Given the description of an element on the screen output the (x, y) to click on. 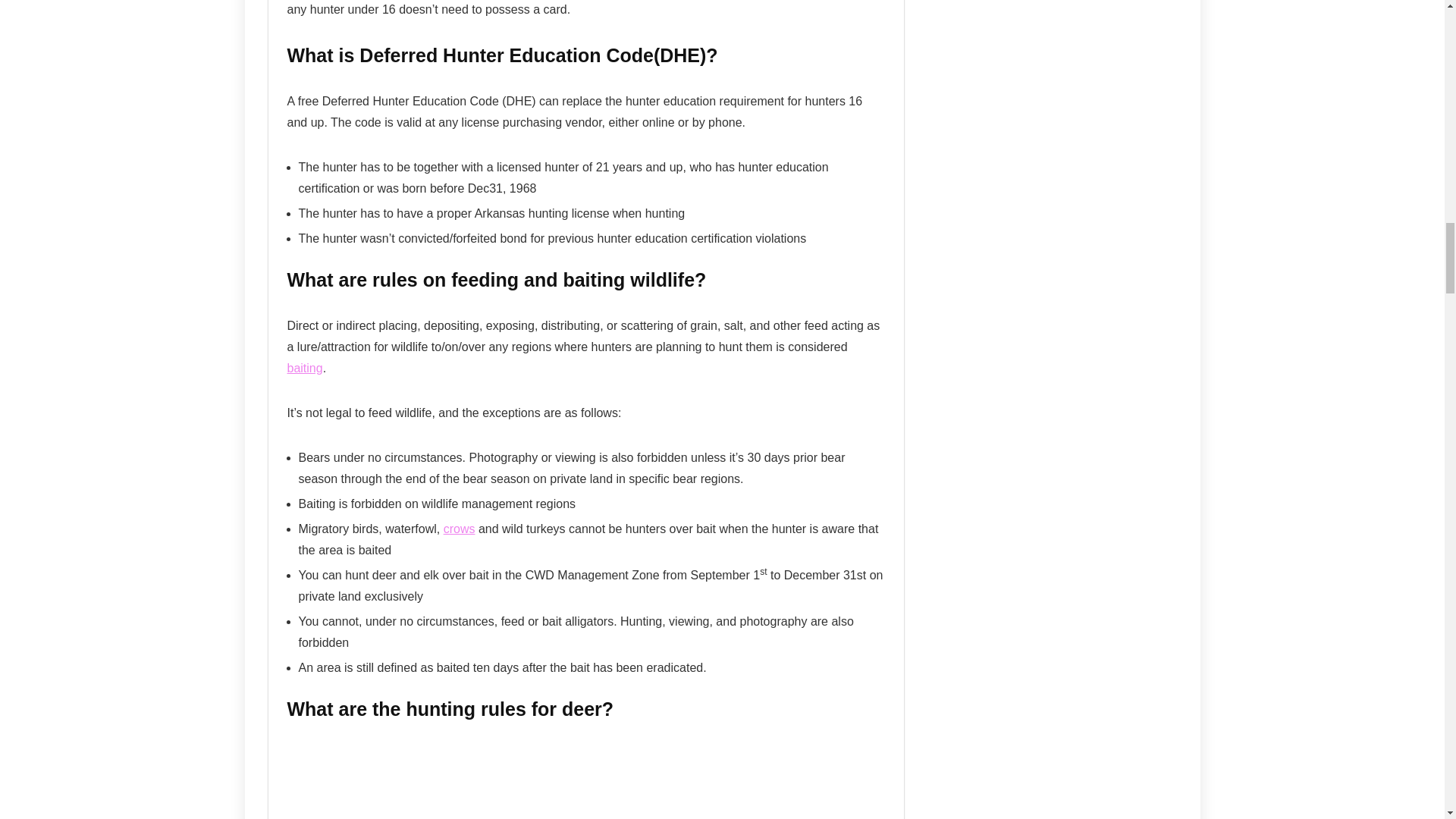
baiting (303, 367)
crows (460, 528)
